Given the description of an element on the screen output the (x, y) to click on. 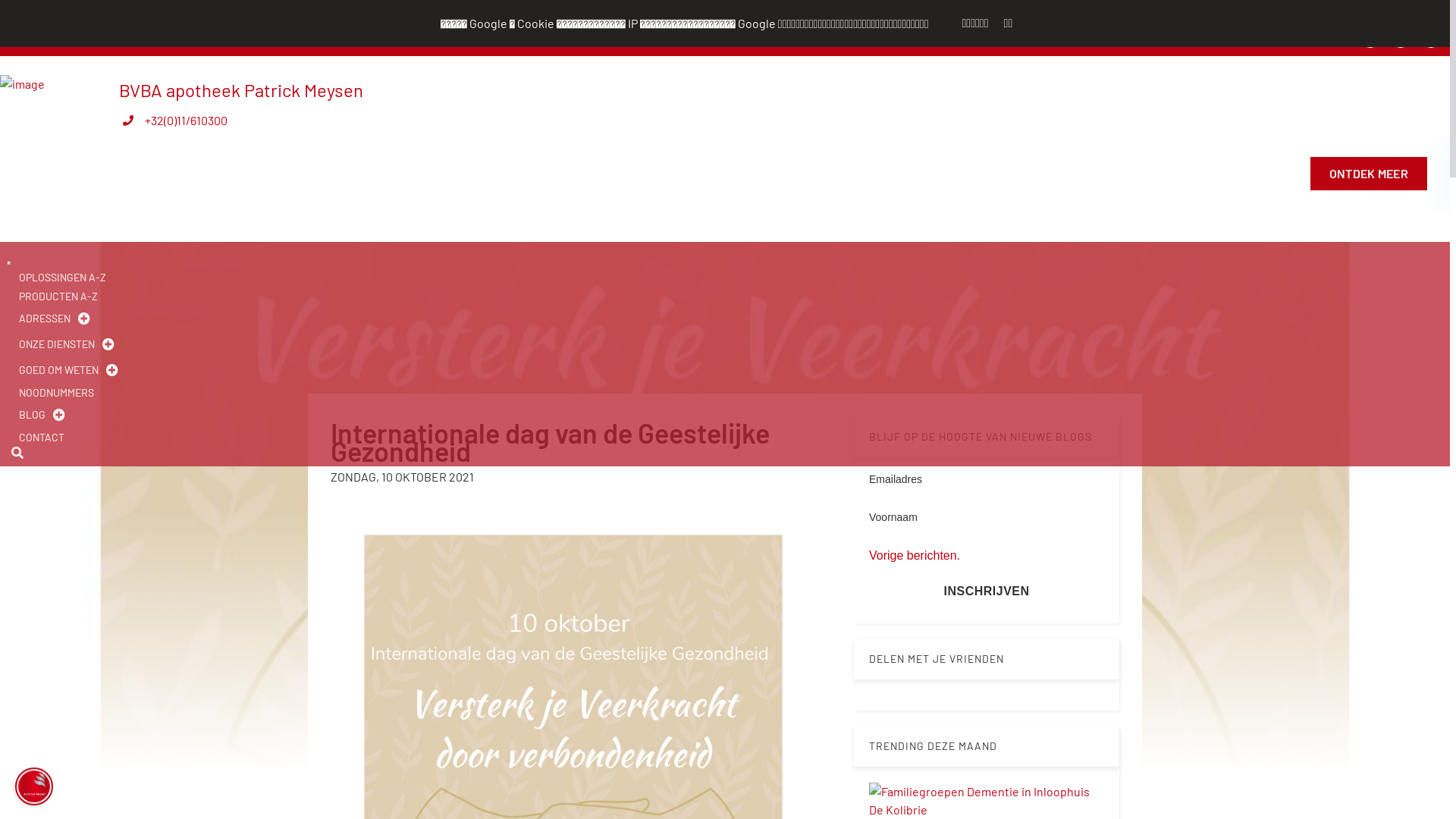
PRODUCTEN A-Z Element type: text (58, 295)
INSCHRIJVEN Element type: text (986, 591)
ONZE DIENSTEN Element type: text (56, 344)
NOODNUMMERS Element type: text (56, 392)
Gezondheidsapp Farmamobile: veilig & gratis Element type: text (930, 173)
ADRESSEN Element type: text (44, 318)
team@apotheekmeysen.be Element type: text (98, 8)
Vorige berichten. Element type: text (914, 555)
+32(0)11/610300 Element type: text (185, 119)
GOED OM WETEN Element type: text (58, 369)
OPLOSSINGEN A-Z Element type: text (62, 276)
ONTDEK MEER Element type: text (1356, 173)
+32(0)11/610300 Element type: text (254, 8)
BLOG Element type: text (32, 414)
CONTACT Element type: text (41, 436)
